Given the description of an element on the screen output the (x, y) to click on. 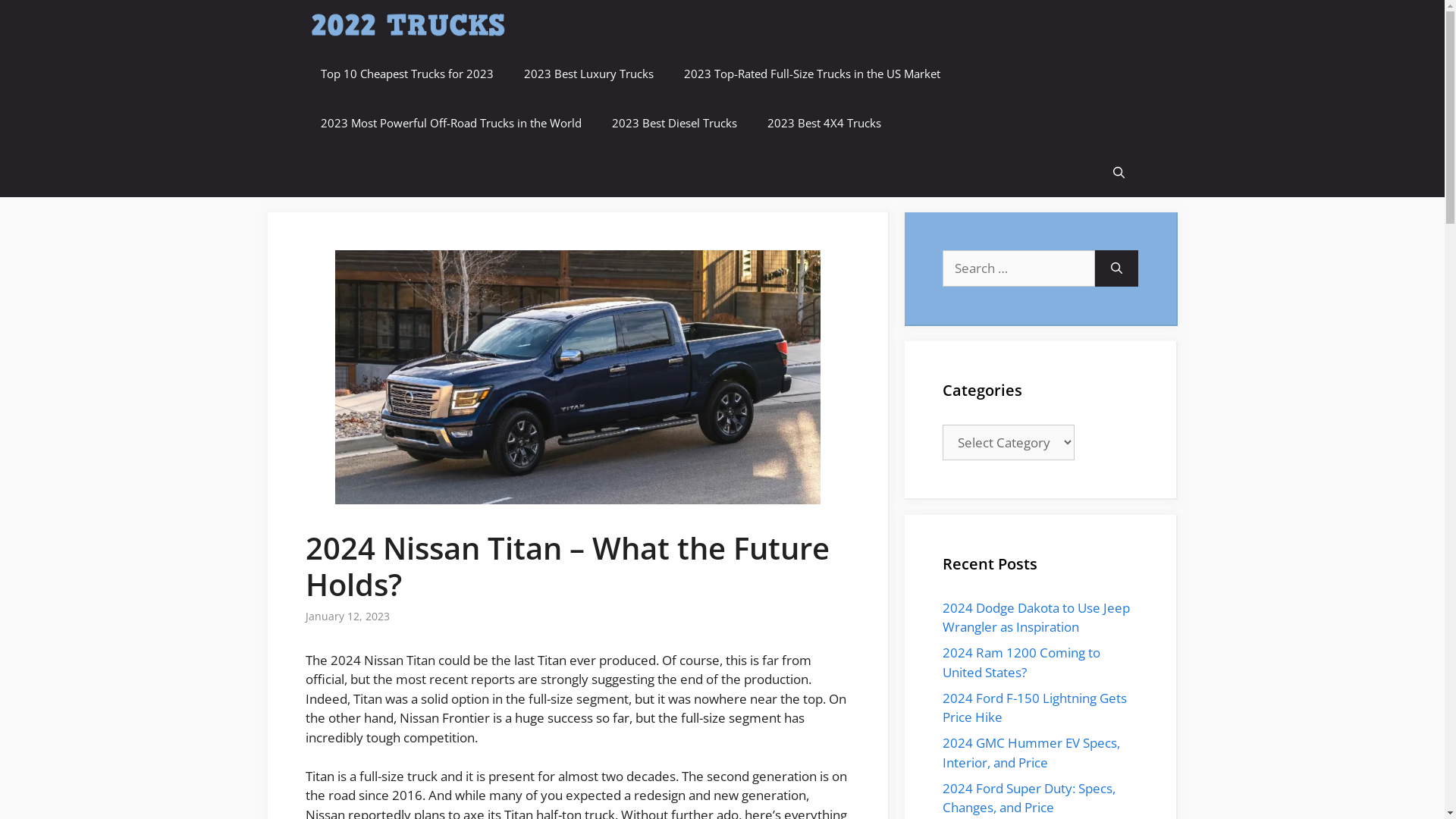
2024 GMC Hummer EV Specs, Interior, and Price Element type: text (1030, 752)
2023 Best Diesel Trucks Element type: text (673, 122)
2024 Ford Super Duty: Specs, Changes, and Price Element type: text (1027, 797)
2023 Most Powerful Off-Road Trucks in the World Element type: text (450, 122)
2023 Top-Rated Full-Size Trucks in the US Market Element type: text (811, 73)
2024 Dodge Dakota to Use Jeep Wrangler as Inspiration Element type: text (1035, 617)
2023 Best Luxury Trucks Element type: text (588, 73)
2023 Best 4X4 Trucks Element type: text (824, 122)
2024 Ram 1200 Coming to United States? Element type: text (1020, 661)
2024 Ford F-150 Lightning Gets Price Hike Element type: text (1033, 706)
Top 10 Cheapest Trucks for 2023 Element type: text (406, 73)
Search for: Element type: hover (1017, 268)
